Given the description of an element on the screen output the (x, y) to click on. 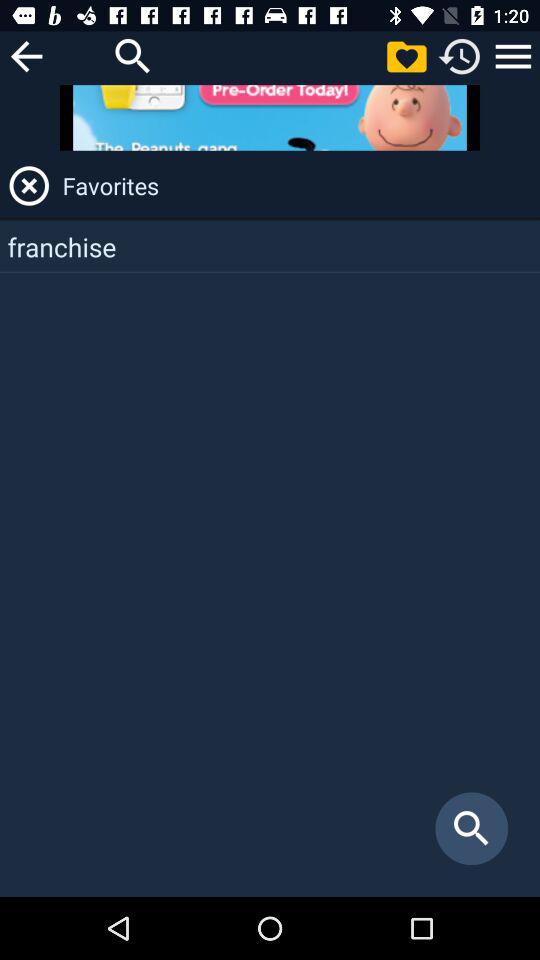
open item above favorites item (270, 117)
